Given the description of an element on the screen output the (x, y) to click on. 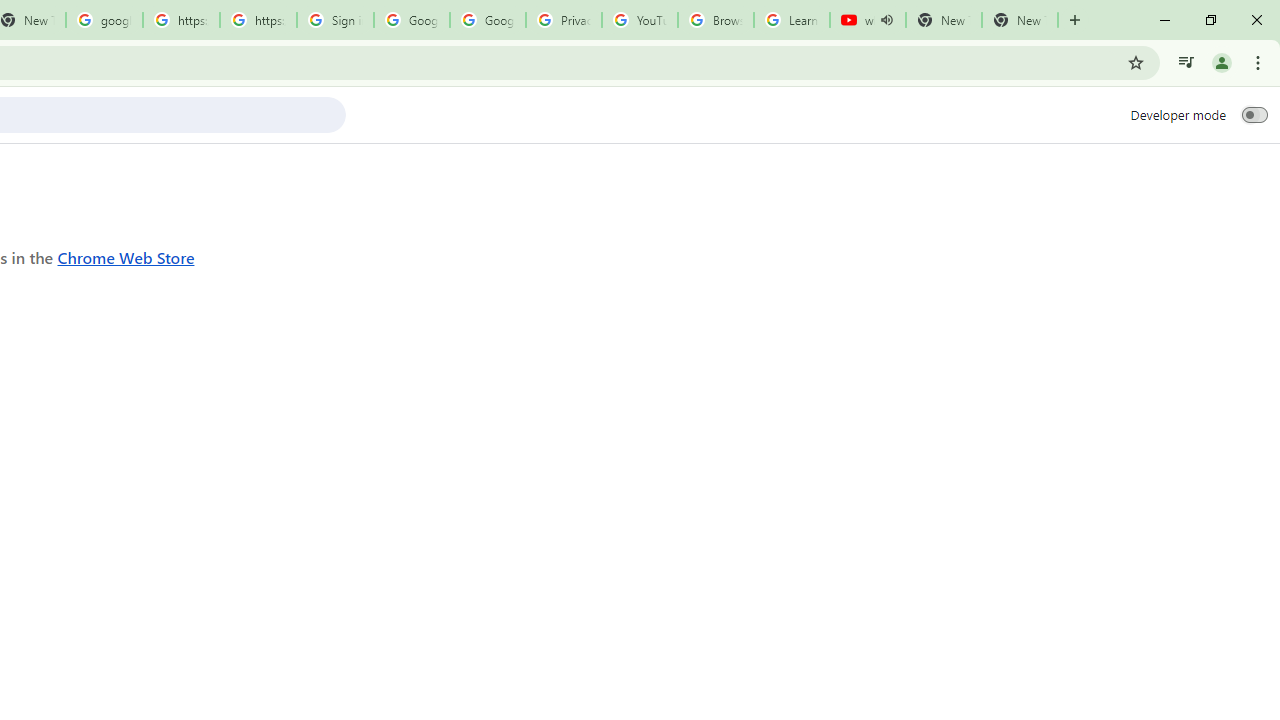
YouTube (639, 20)
Sign in - Google Accounts (335, 20)
Browse Chrome as a guest - Computer - Google Chrome Help (715, 20)
New Tab (1019, 20)
https://scholar.google.com/ (181, 20)
https://scholar.google.com/ (258, 20)
